Given the description of an element on the screen output the (x, y) to click on. 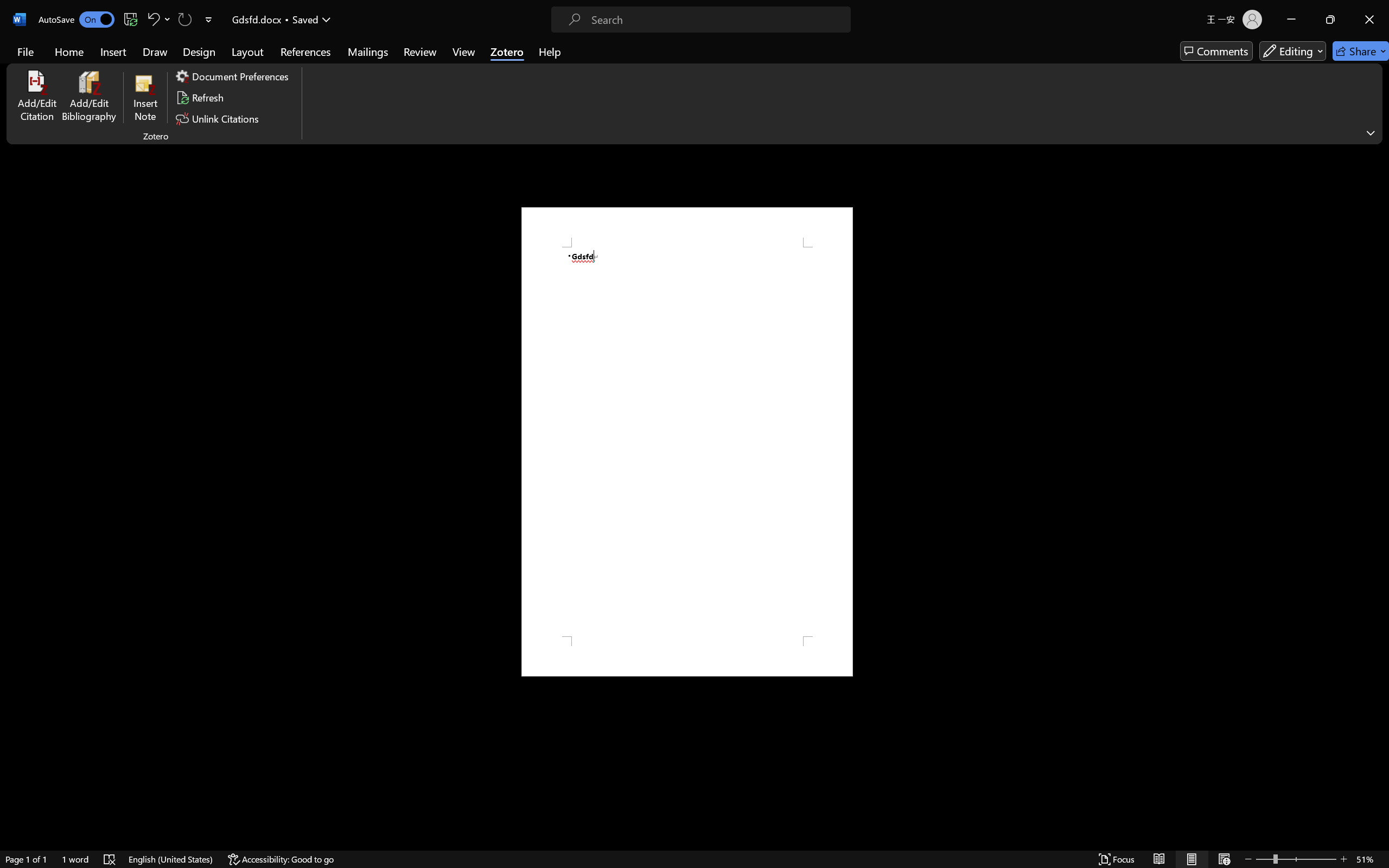
Page 1 content (686, 441)
